Given the description of an element on the screen output the (x, y) to click on. 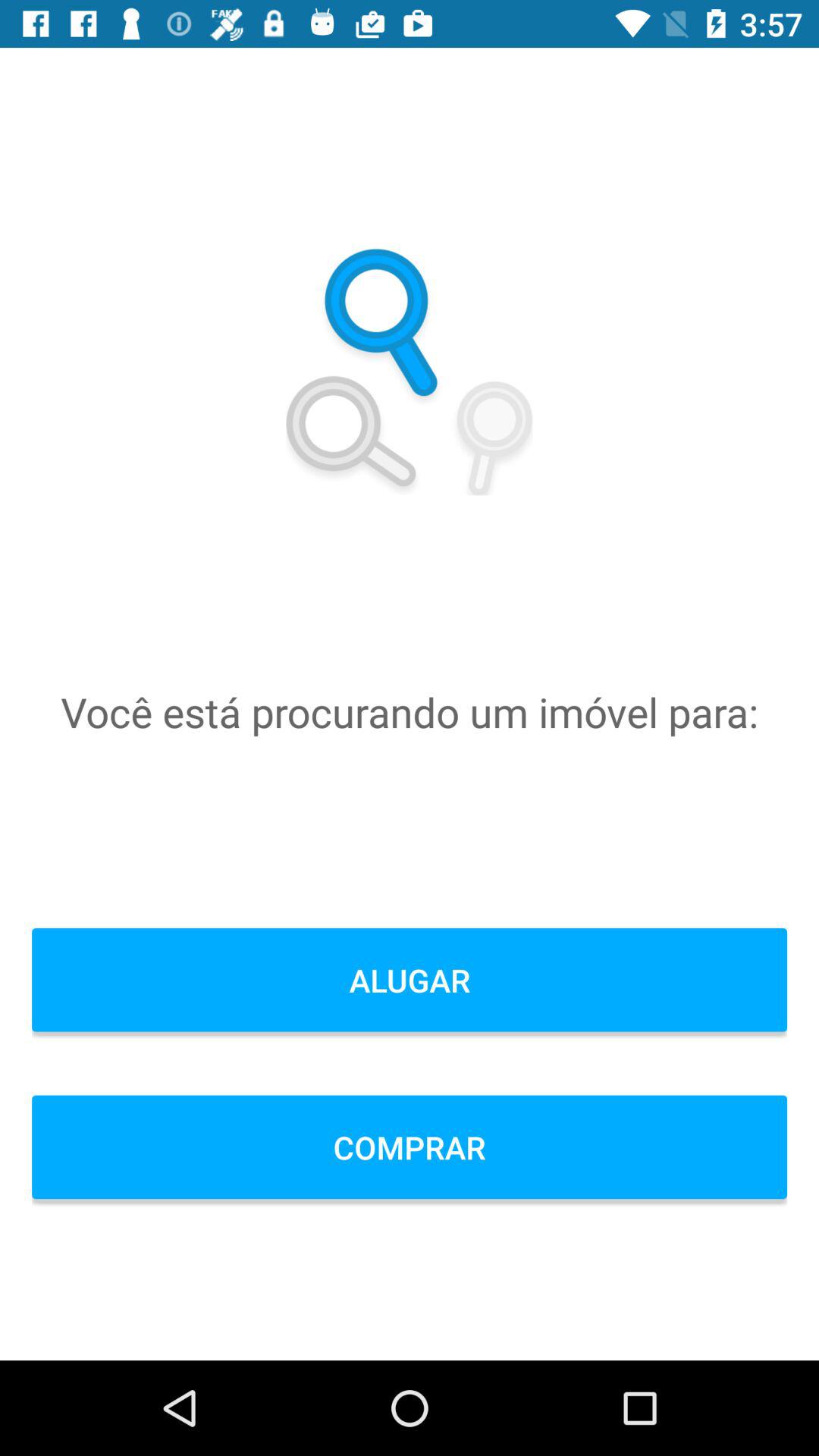
turn off the comprar icon (409, 1146)
